Given the description of an element on the screen output the (x, y) to click on. 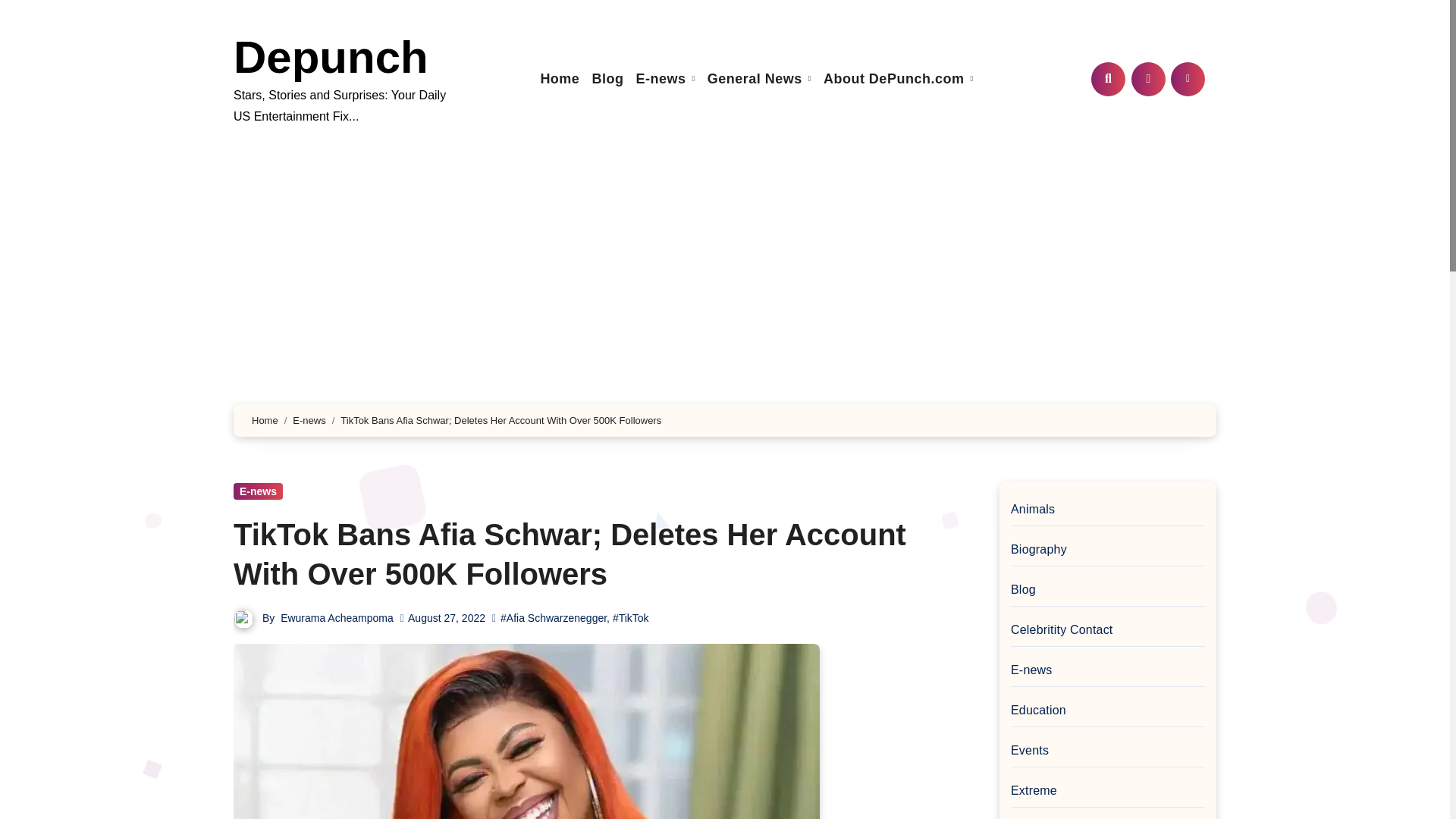
Ewurama Acheampoma (337, 617)
Blog (606, 78)
Home (559, 78)
Home (559, 78)
Home (264, 419)
General News (758, 78)
About DePunch.com (897, 78)
August 27, 2022 (445, 617)
Depunch (330, 56)
